Given the description of an element on the screen output the (x, y) to click on. 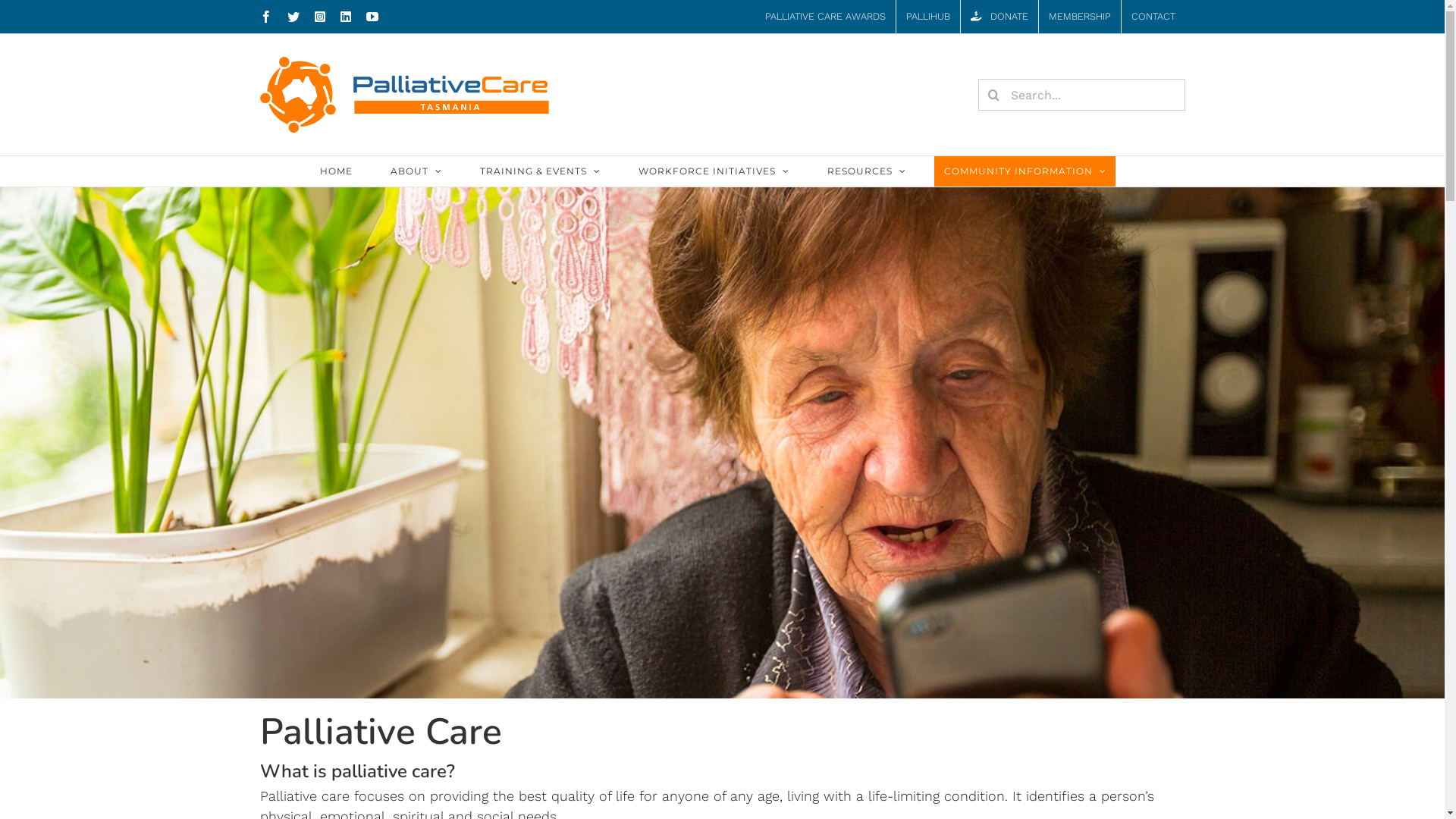
CONTACT Element type: text (1152, 16)
PALLIATIVE CARE AWARDS Element type: text (825, 16)
WORKFORCE INITIATIVES Element type: text (713, 171)
RESOURCES Element type: text (866, 171)
Twitter Element type: text (292, 16)
PALLIHUB Element type: text (928, 16)
YouTube Element type: text (371, 16)
DONATE Element type: text (998, 16)
TRAINING & EVENTS Element type: text (539, 171)
Facebook Element type: text (265, 16)
ABOUT Element type: text (415, 171)
Instagram Element type: text (318, 16)
LinkedIn Element type: text (344, 16)
HOME Element type: text (335, 171)
MEMBERSHIP Element type: text (1079, 16)
COMMUNITY INFORMATION Element type: text (1024, 171)
